Given the description of an element on the screen output the (x, y) to click on. 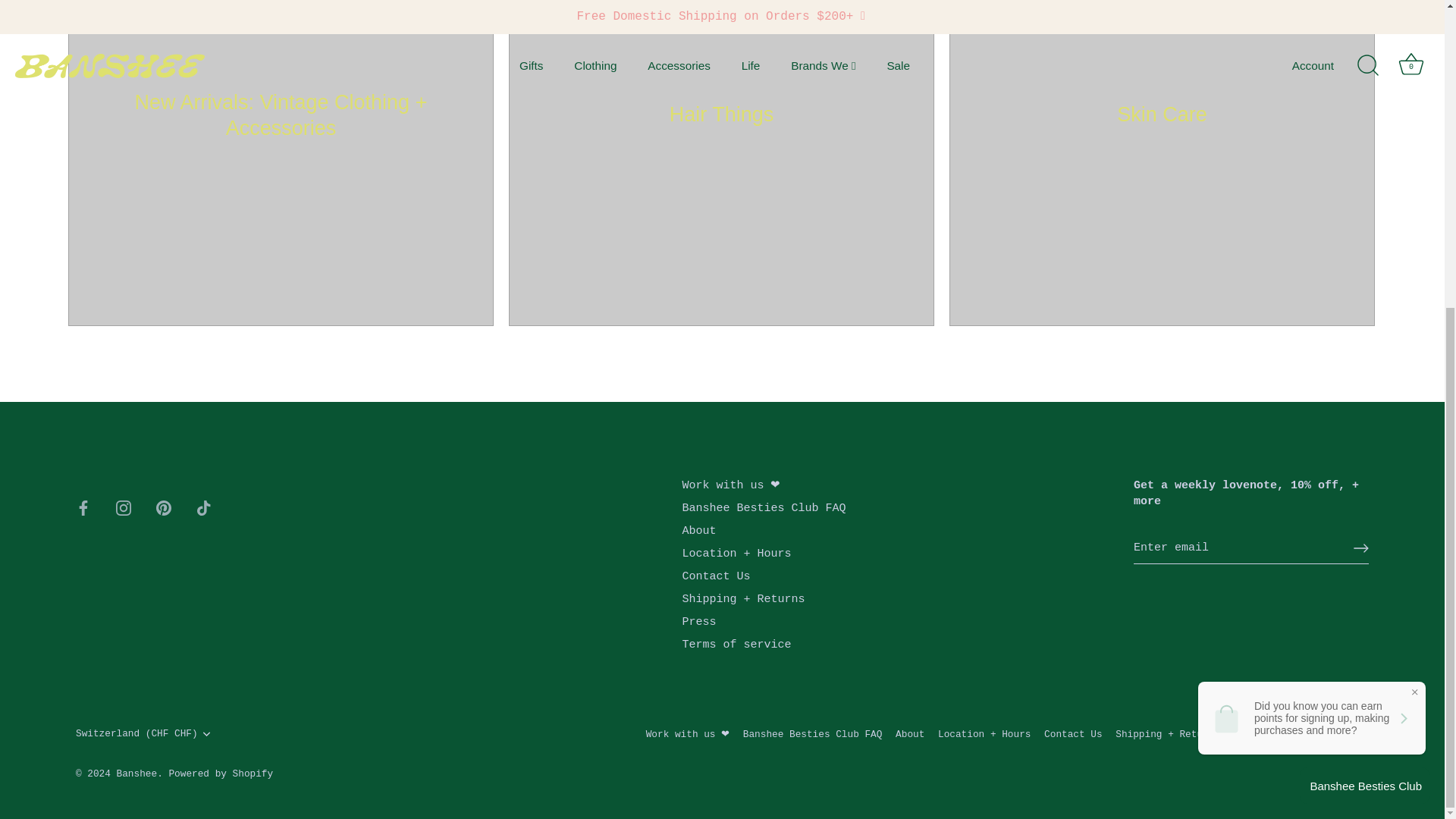
Pinterest (163, 507)
LoyaltyLion beacon (1364, 299)
Instagram (123, 507)
RIGHT ARROW LONG (1361, 548)
